Given the description of an element on the screen output the (x, y) to click on. 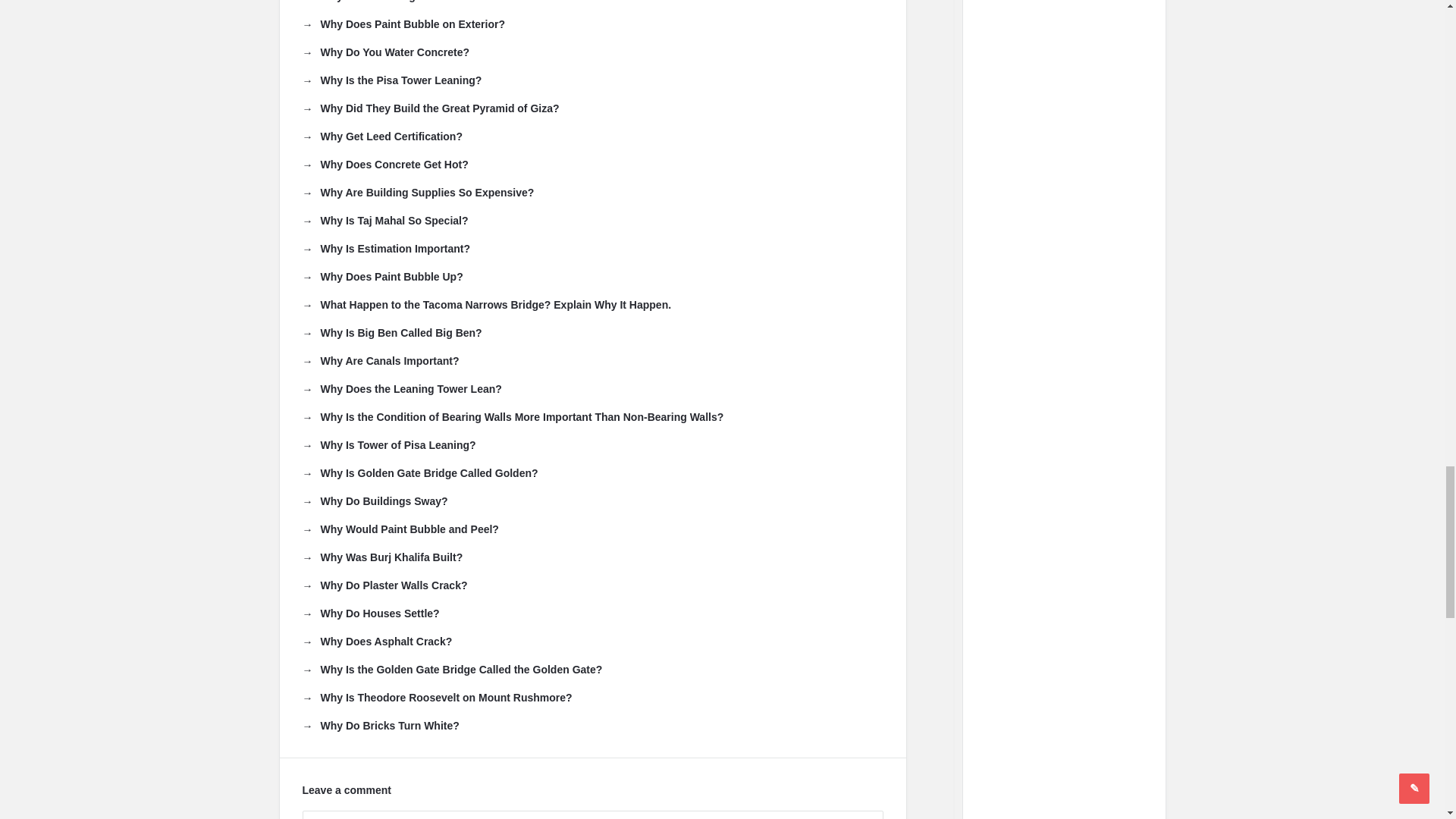
Why Is Golden Gate Bridge Called Golden? (419, 473)
Why Does Paint Bubble on Exterior? (402, 23)
Why Is Big Ben Called Big Ben? (391, 332)
Why Does Leaning Tower of Pisa Lean? (410, 2)
Why Does the Leaning Tower Lean? (400, 388)
Why Is the Pisa Tower Leaning? (391, 80)
Why Get Leed Certification? (381, 135)
Why Are Building Supplies So Expensive? (417, 192)
Why Does Concrete Get Hot? (384, 164)
